Given the description of an element on the screen output the (x, y) to click on. 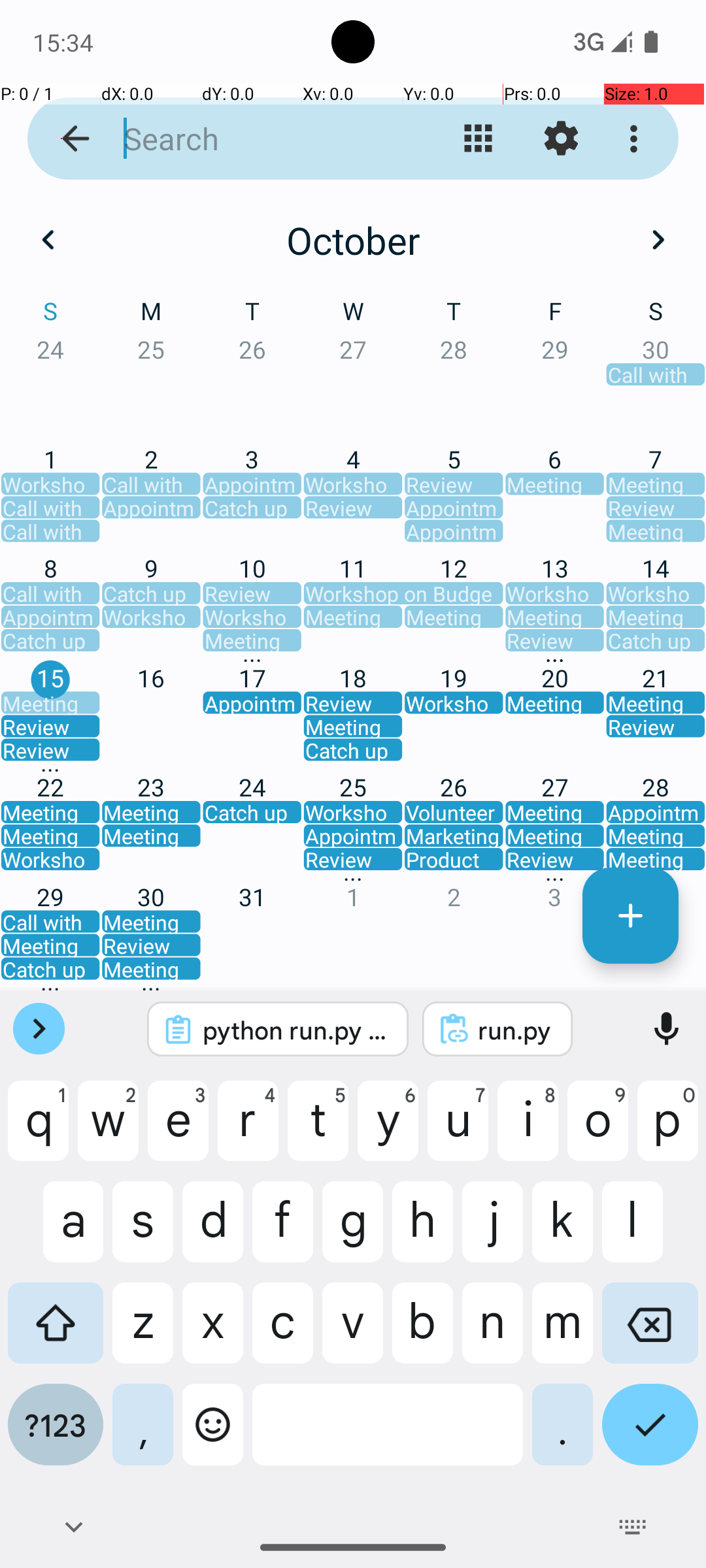
python run.py \   --suite_family=android_world \   --agent_name=t3a_gpt4 \   --perform_emulator_setup \   --tasks=ContactsAddContact,ClockStopWatchRunning \  # Optional: Just run on a subset. Element type: android.widget.TextView (294, 1029)
run.py Element type: android.widget.TextView (514, 1029)
